Given the description of an element on the screen output the (x, y) to click on. 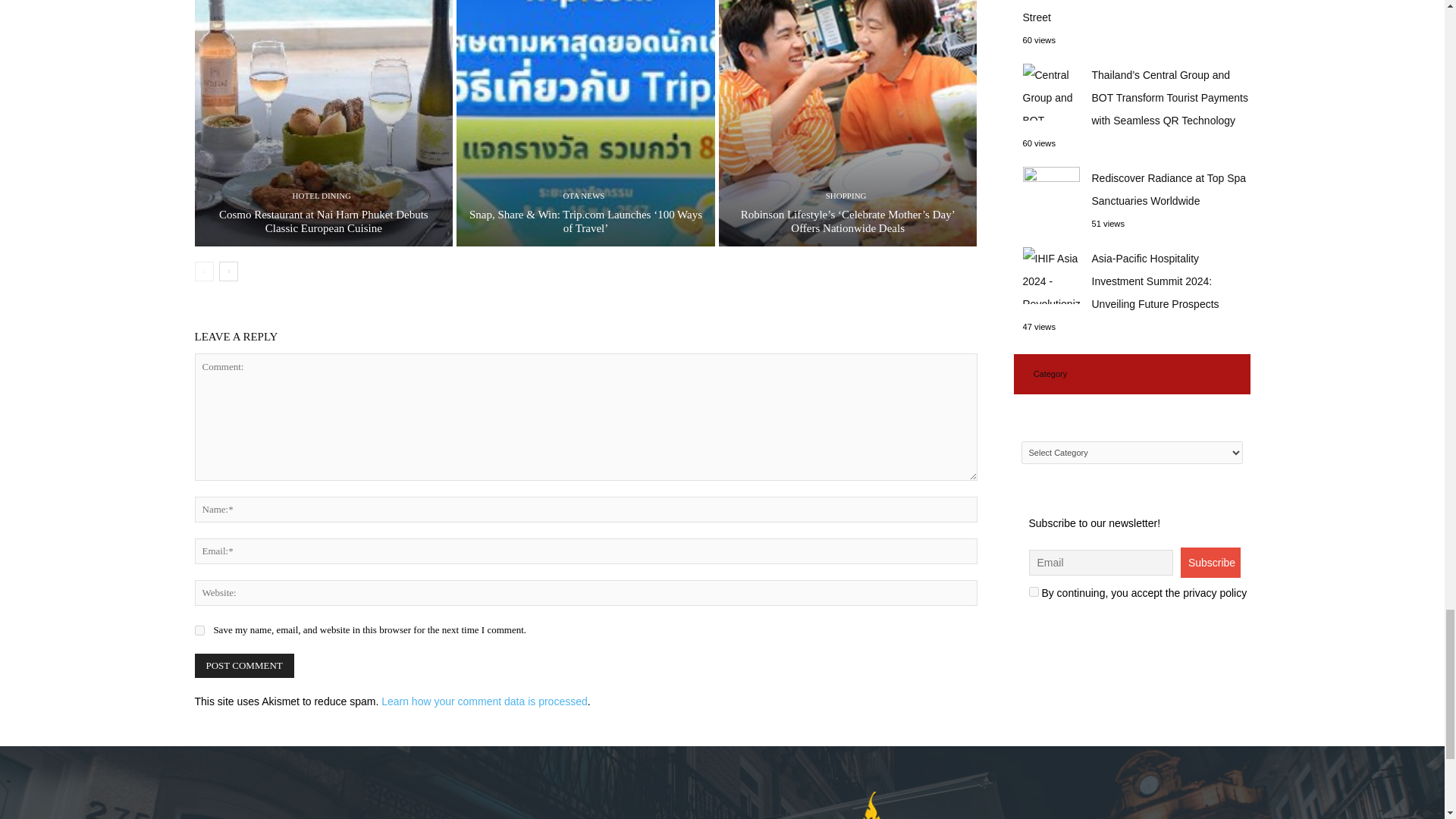
yes (198, 630)
Subscribe (1210, 562)
on (1032, 592)
Post Comment (243, 665)
